Given the description of an element on the screen output the (x, y) to click on. 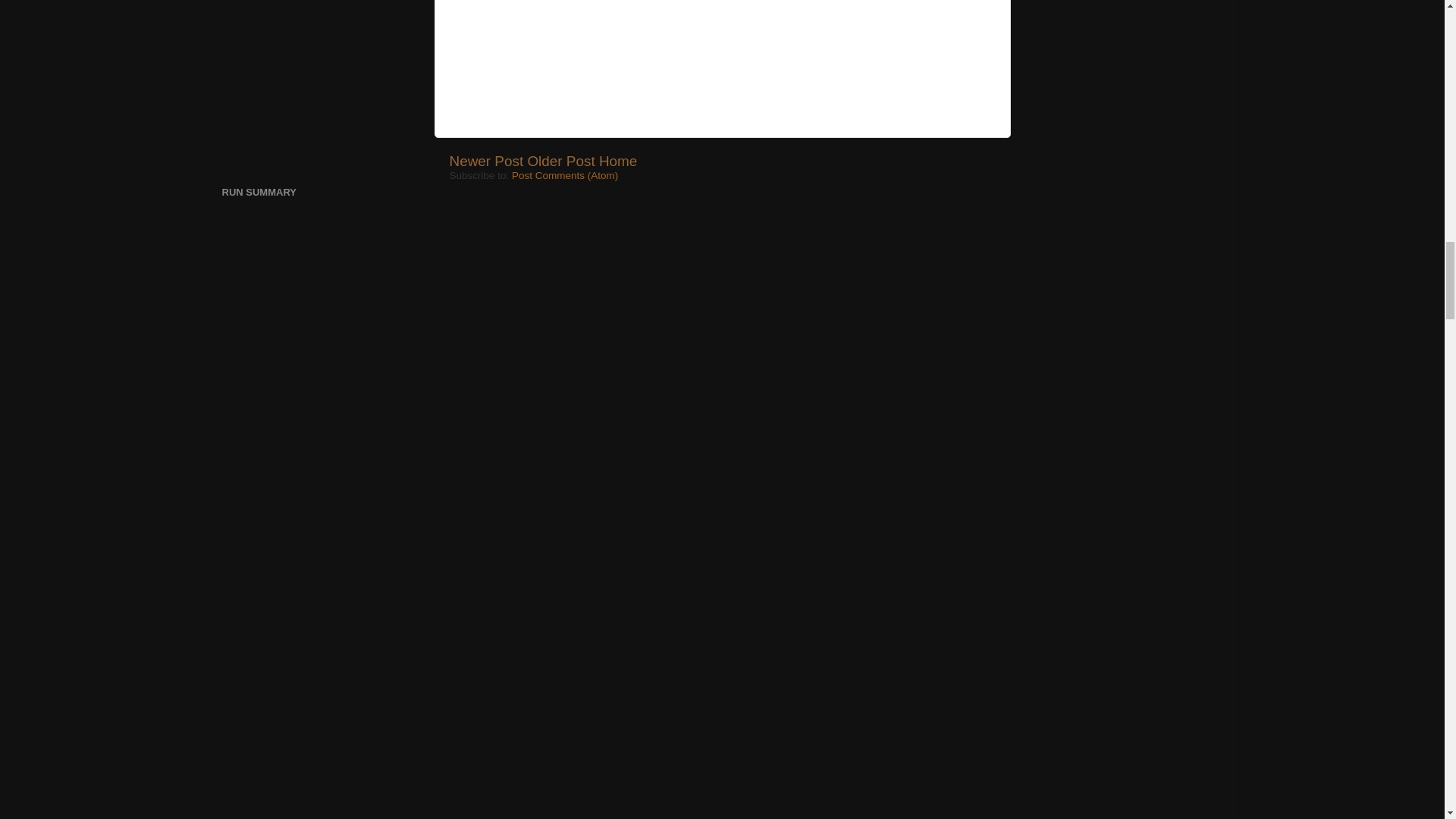
Newer Post (485, 160)
Older Post (560, 160)
Home (617, 160)
Older Post (560, 160)
Newer Post (485, 160)
